Given the description of an element on the screen output the (x, y) to click on. 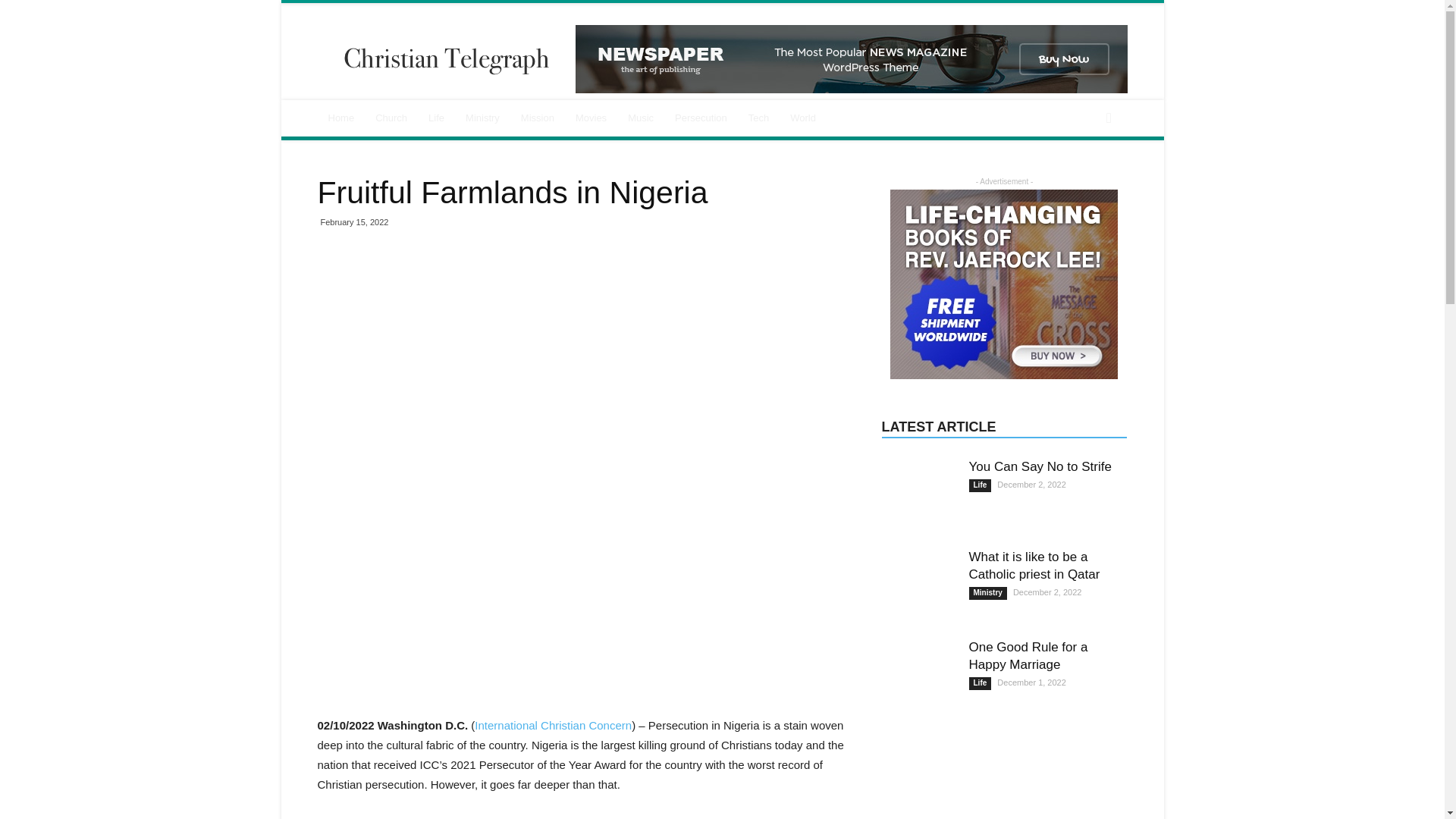
Persecution (700, 117)
Tech (758, 117)
Life (435, 117)
World (802, 117)
Church (391, 117)
Mission (537, 117)
Ministry (482, 117)
Home (341, 117)
Music (640, 117)
Movies (590, 117)
Search (1083, 178)
